Given the description of an element on the screen output the (x, y) to click on. 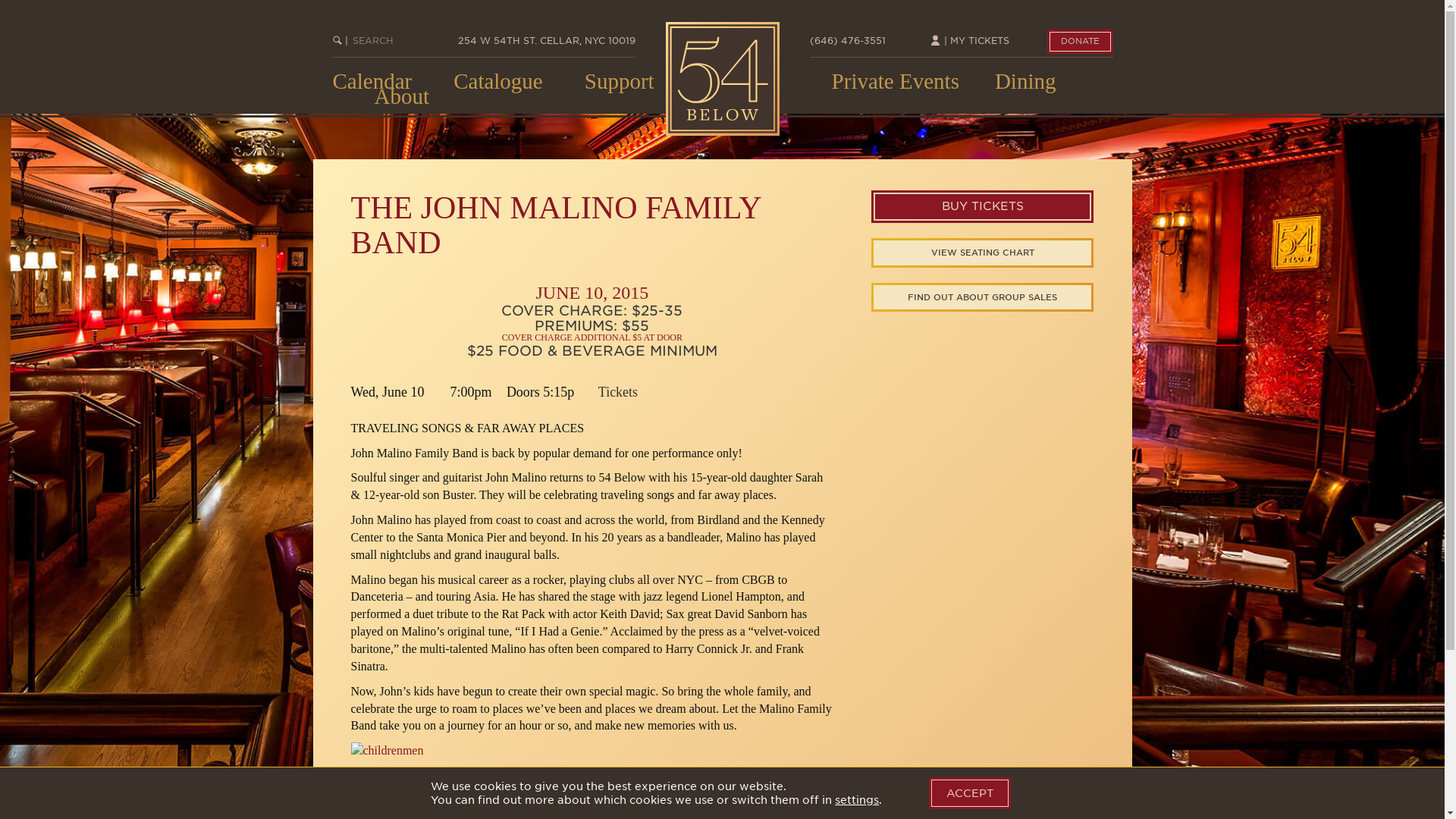
DONATE (1079, 41)
About (401, 96)
Calendar (371, 80)
Private Events (895, 80)
Dining (1025, 80)
Support (619, 80)
Catalogue (497, 80)
54 BELOW (721, 78)
